Given the description of an element on the screen output the (x, y) to click on. 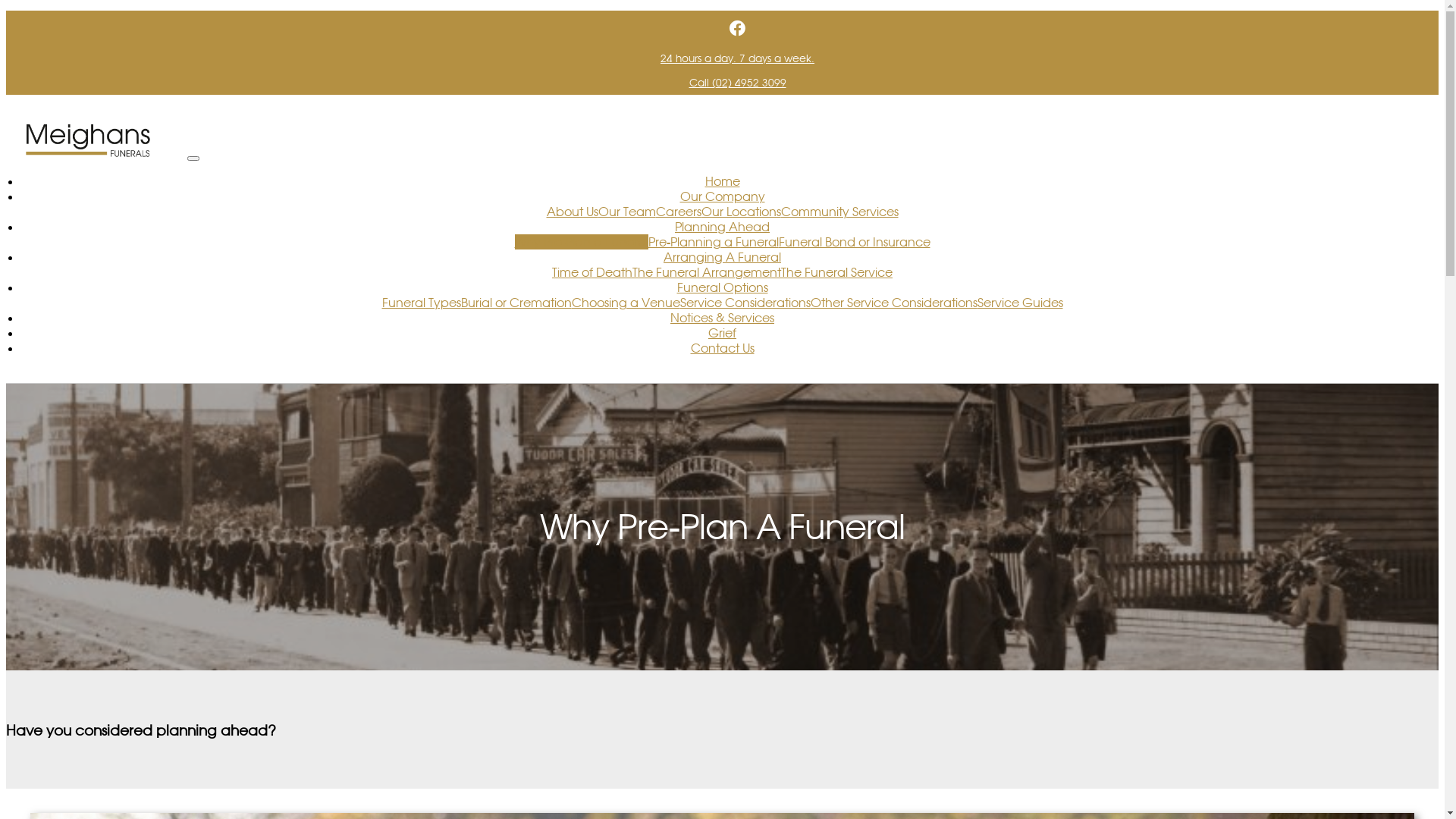
Our Company Element type: text (721, 195)
Notices & Services Element type: text (722, 317)
Grief Element type: text (722, 332)
About Us Element type: text (571, 211)
Home Element type: text (722, 180)
Burial or Cremation Element type: text (516, 302)
Our Team Element type: text (626, 211)
Choosing a Venue Element type: text (625, 302)
24 hours a day. 7 days a week. Element type: text (737, 58)
Arranging A Funeral Element type: text (722, 256)
Community Services Element type: text (839, 211)
The Funeral Arrangement Element type: text (706, 271)
Careers Element type: text (677, 211)
Funeral Types Element type: text (421, 302)
Pre-Planning a Funeral Element type: text (712, 241)
Service Guides Element type: text (1019, 302)
Funeral Options Element type: text (721, 286)
Contact Us Element type: text (721, 347)
Why Pre-Plan a Funeral Element type: text (580, 241)
Our Locations Element type: text (740, 211)
Funeral Bond or Insurance Element type: text (853, 241)
Planning Ahead Element type: text (721, 226)
Call (02) 4952 3099 Element type: text (736, 82)
Service Considerations Element type: text (744, 302)
Time of Death Element type: text (592, 271)
Other Service Considerations Element type: text (892, 302)
The Funeral Service Element type: text (836, 271)
